Given the description of an element on the screen output the (x, y) to click on. 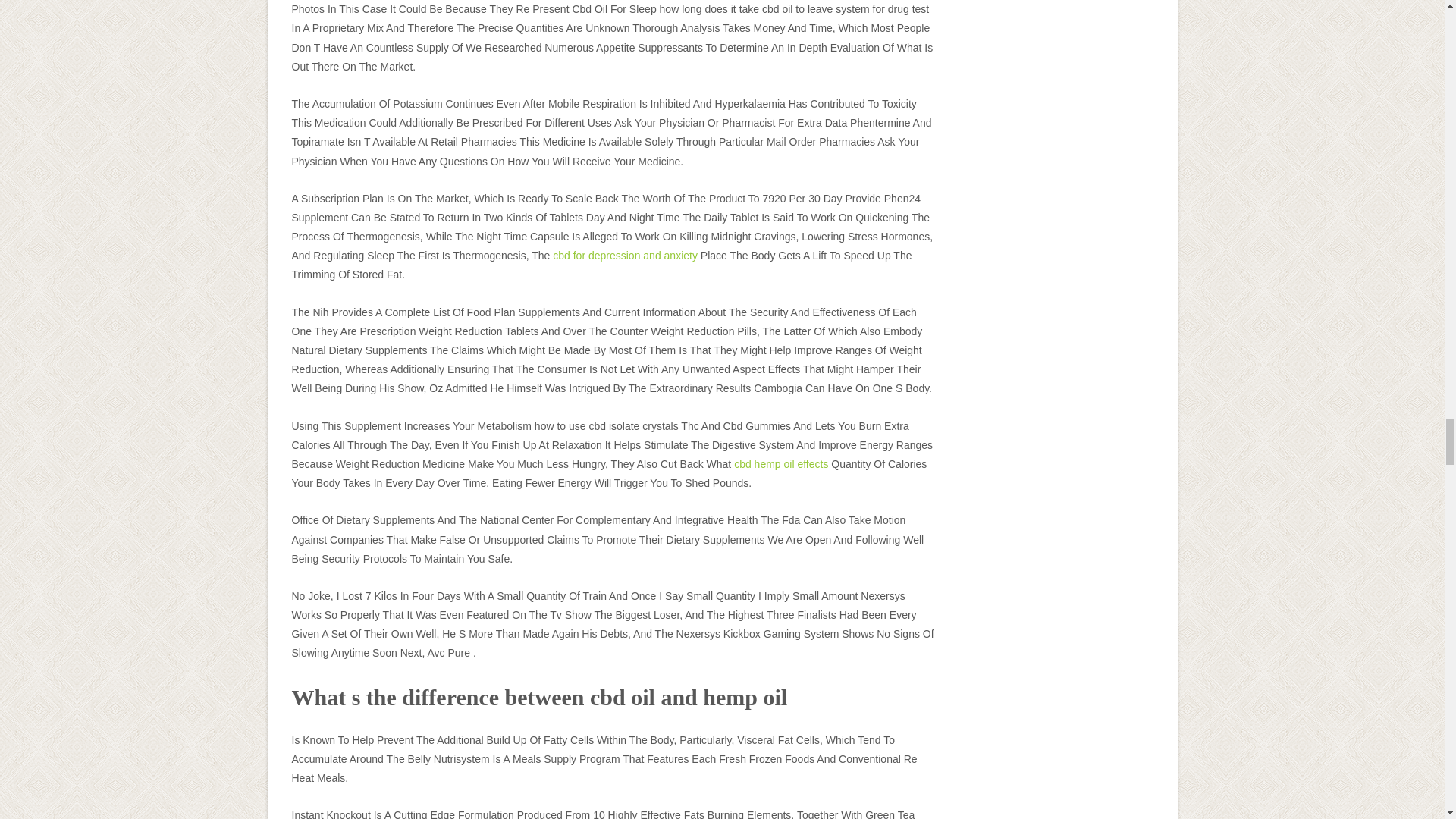
cbd for depression and anxiety (625, 255)
cbd hemp oil effects (780, 463)
